Given the description of an element on the screen output the (x, y) to click on. 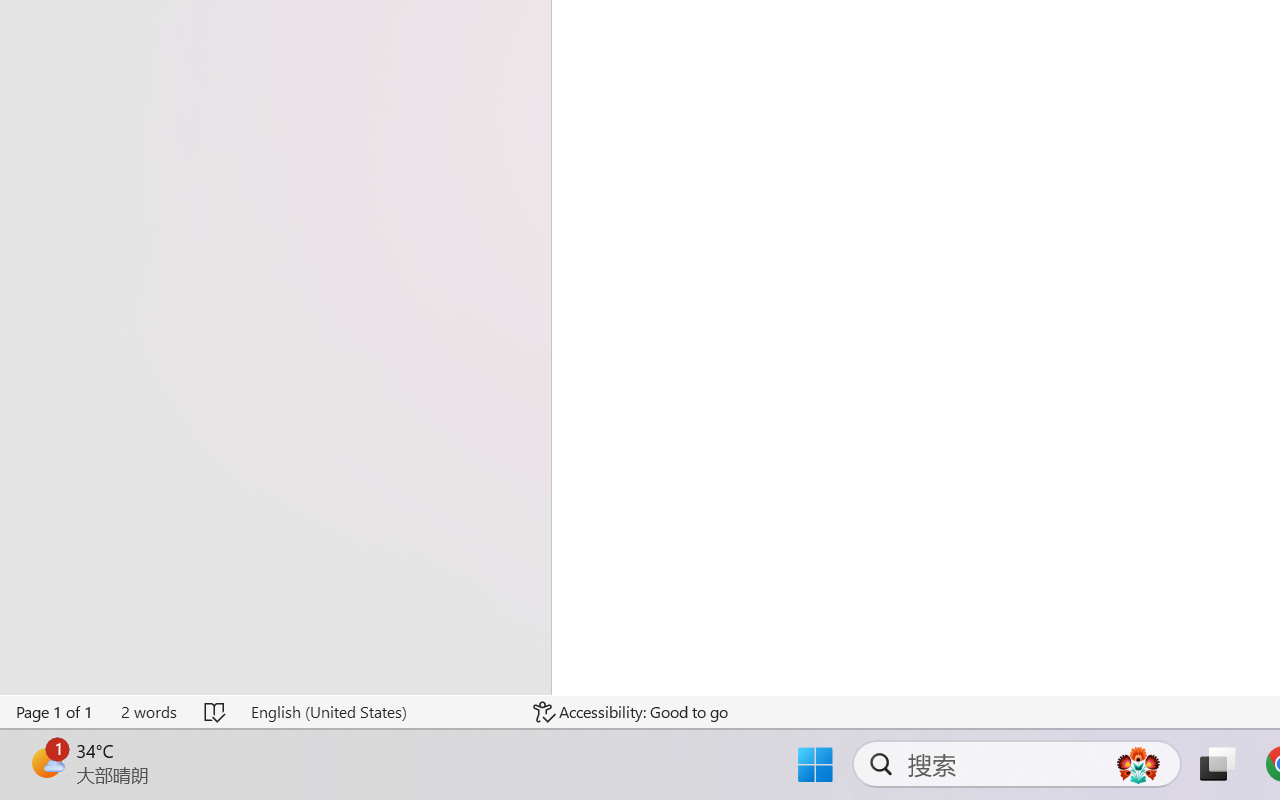
Page Number Page 1 of 1 (55, 712)
